Given the description of an element on the screen output the (x, y) to click on. 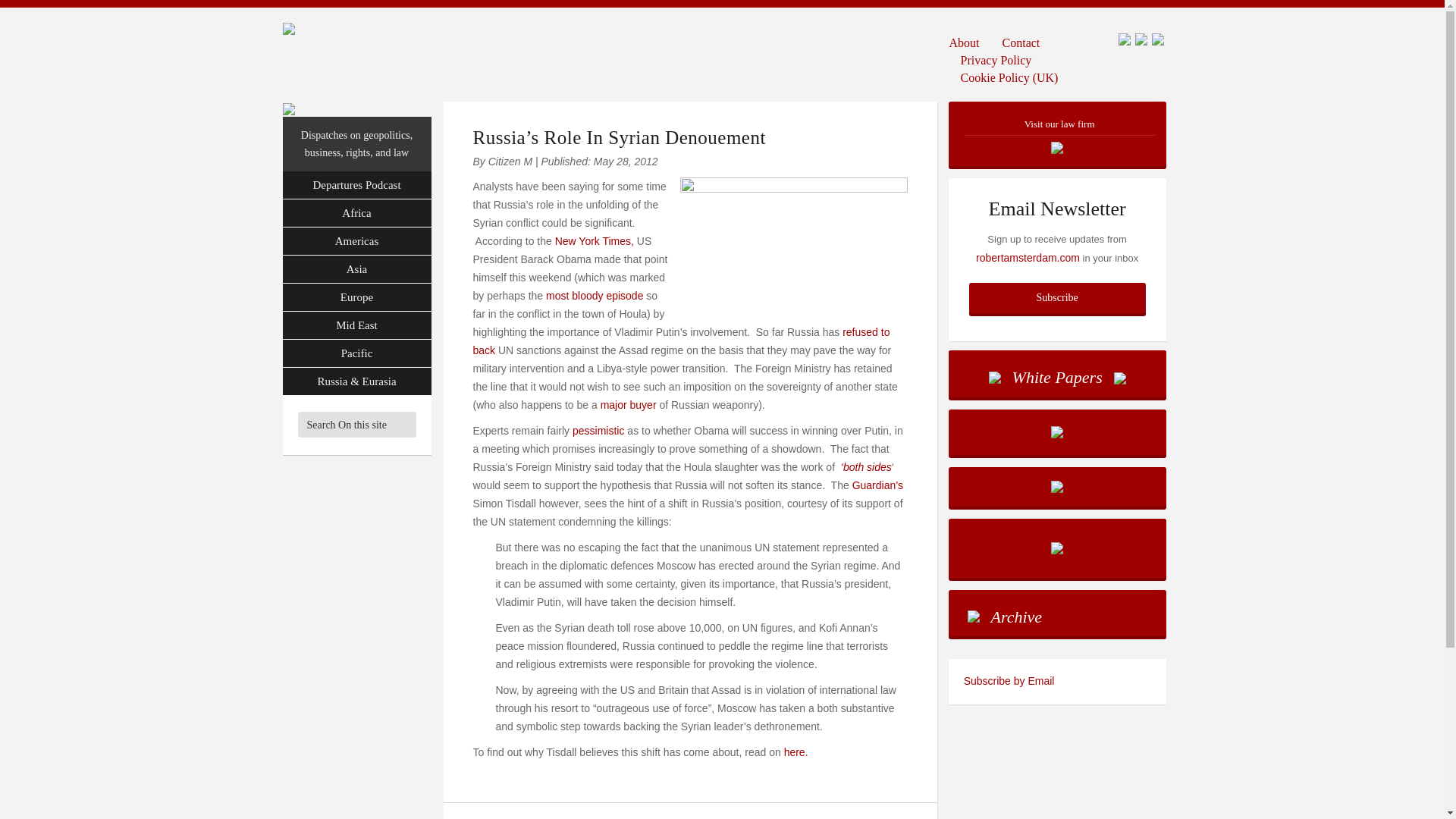
About (970, 42)
Pacific (356, 353)
Subscribe to the Robert Amsterdam feed by email (1057, 681)
most bloody episode (596, 295)
Contact (1021, 42)
pessimistic (598, 430)
Mid East (356, 325)
Asia (356, 269)
White Papers (1057, 373)
major buyer (627, 404)
refused to back (681, 340)
here.  (797, 752)
Subscribe (1057, 297)
robertamsterdam.com (1027, 257)
Americas (356, 241)
